Given the description of an element on the screen output the (x, y) to click on. 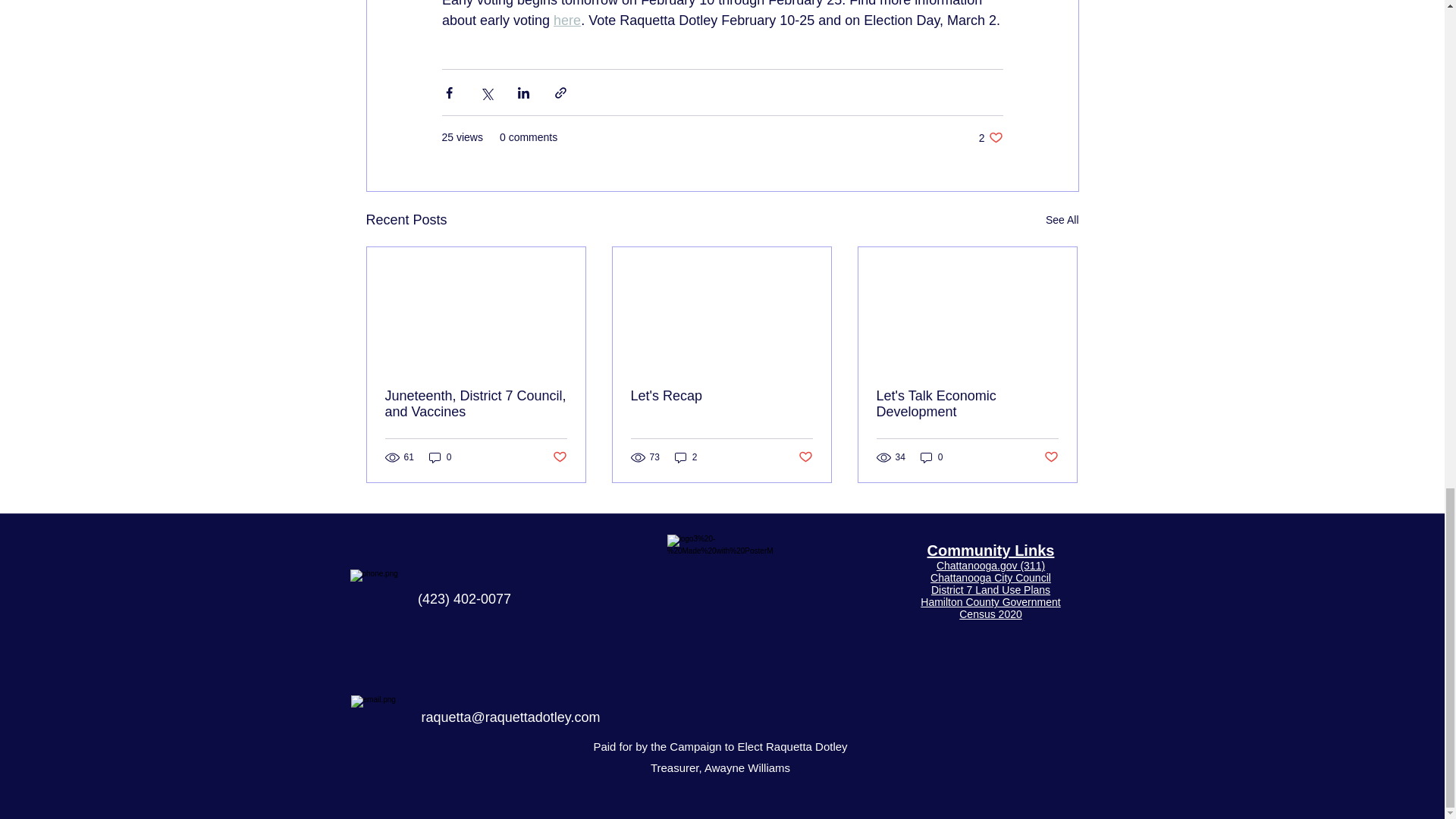
2 (685, 457)
Census 2020 (990, 613)
Juneteenth, District 7 Council, and Vaccines (476, 404)
0 (931, 457)
0 (440, 457)
See All (1061, 219)
here (566, 20)
Post not marked as liked (804, 457)
Let's Talk Economic Development (967, 404)
Post not marked as liked (990, 137)
Let's Recap (558, 457)
Chattanooga City Council (721, 396)
Hamilton County Government (990, 577)
District 7 Land Use Plans (989, 602)
